Given the description of an element on the screen output the (x, y) to click on. 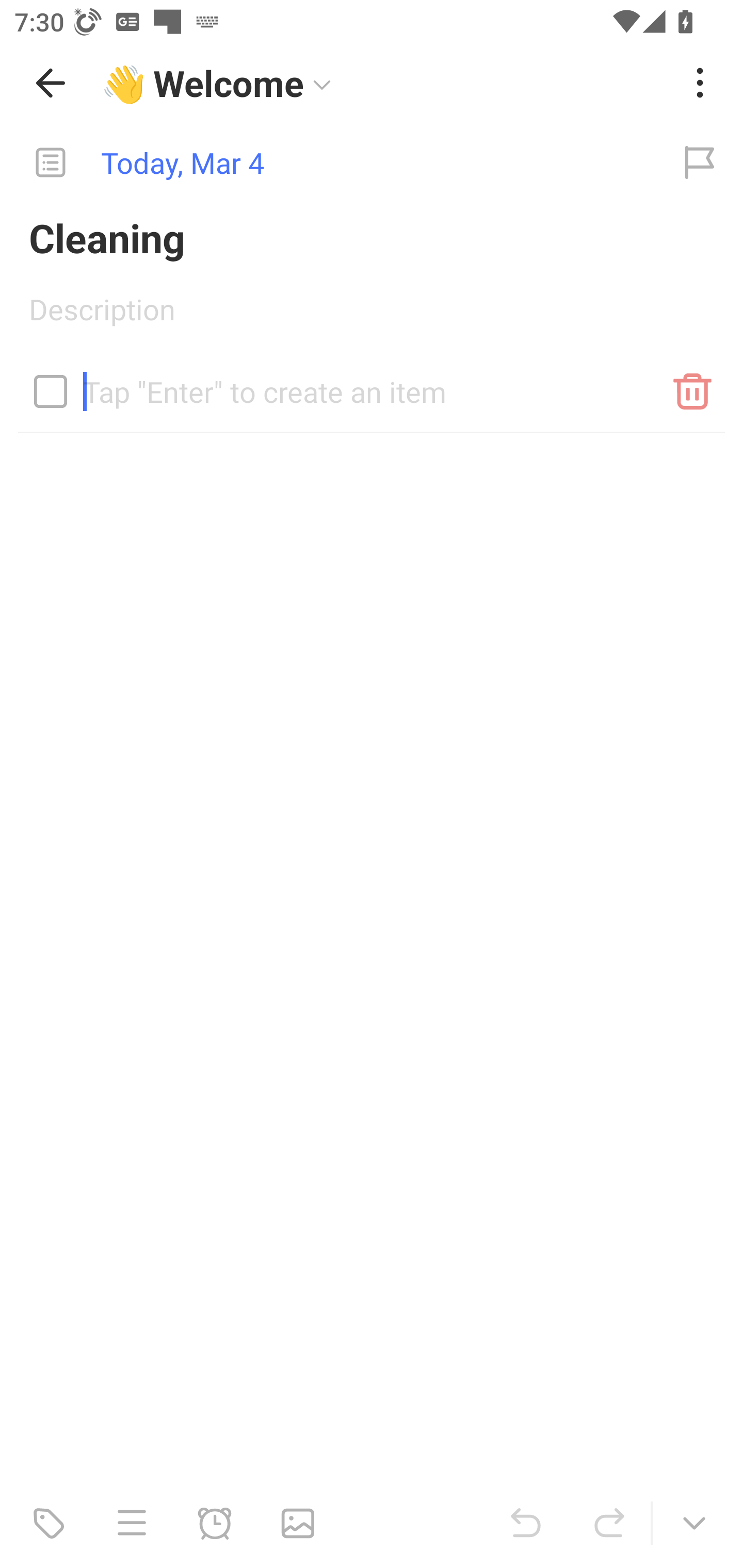
👋 Welcome (384, 82)
Today, Mar 4  (328, 163)
Cleaning (371, 237)
Description (371, 315)
  (50, 390)
Tap "Enter" to create an item (371, 383)
